Given the description of an element on the screen output the (x, y) to click on. 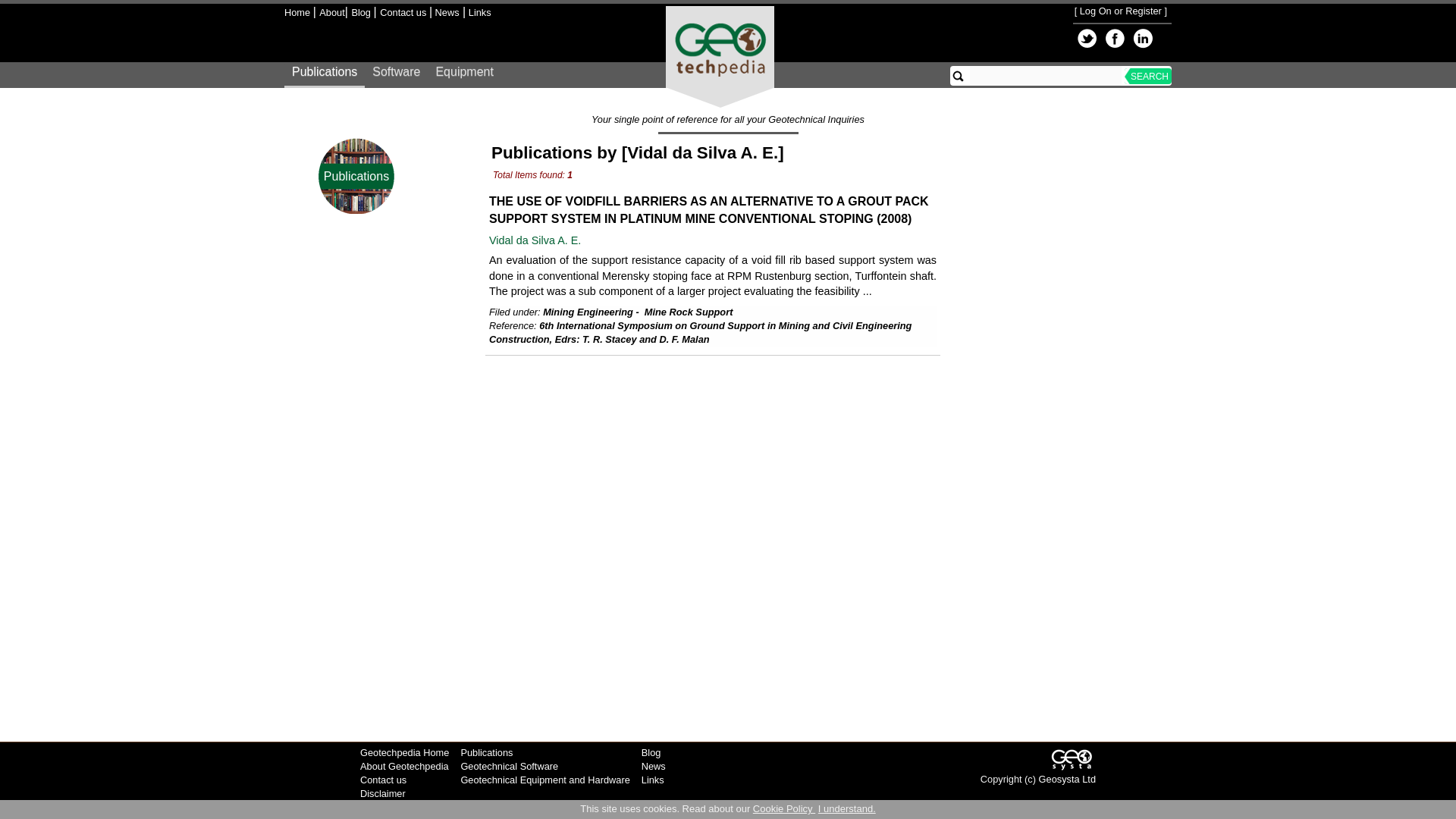
Share on Facebook (1114, 38)
Equipment (464, 75)
Cookie Policy (783, 808)
About (330, 12)
Blog (361, 12)
Mining Engineering (588, 311)
Links (477, 12)
Geotechnical Equipment and Hardware (544, 779)
News (446, 12)
Log On or Register (1120, 10)
